Given the description of an element on the screen output the (x, y) to click on. 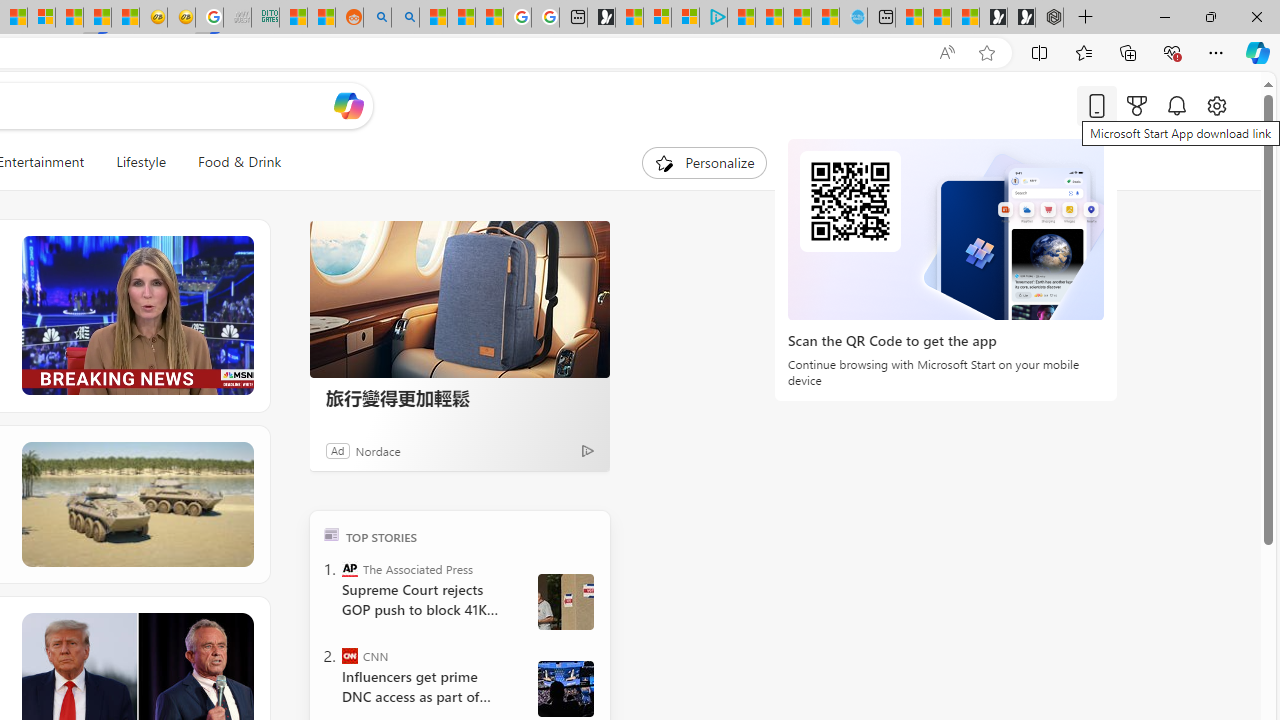
Food & Drink (239, 162)
